Given the description of an element on the screen output the (x, y) to click on. 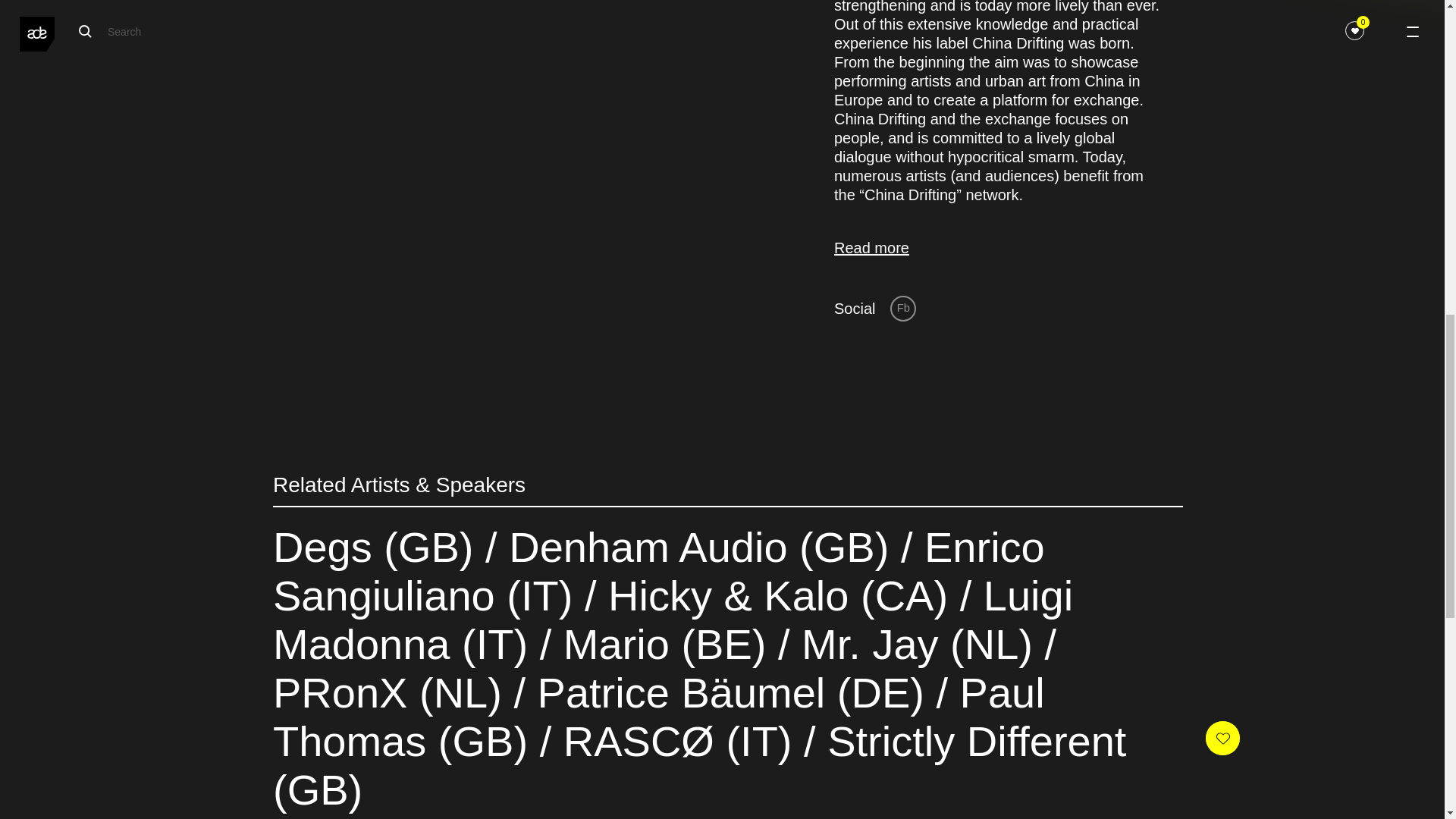
Fb (902, 308)
